Given the description of an element on the screen output the (x, y) to click on. 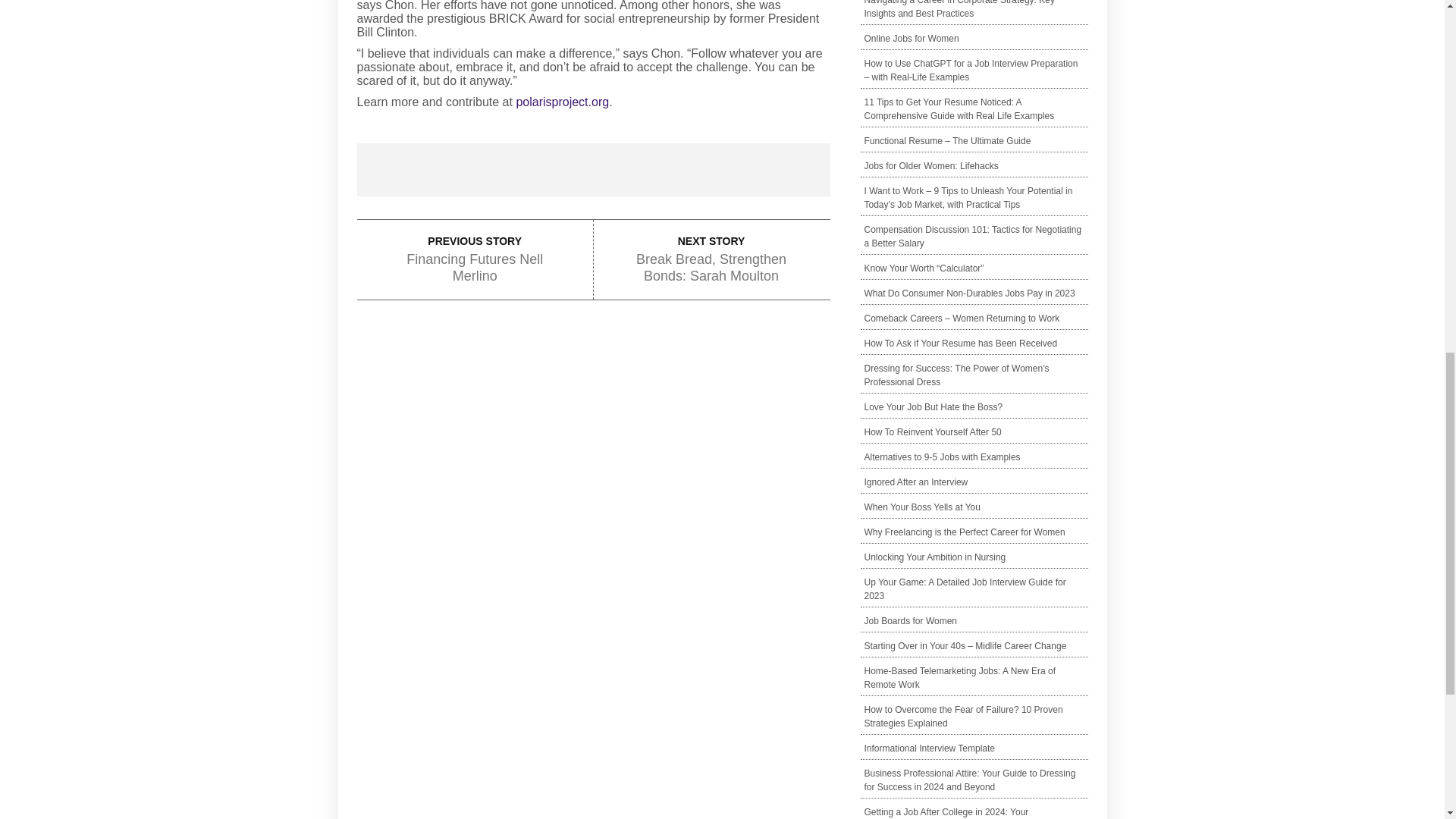
Pin This (651, 169)
Share on Facebook (415, 169)
Tweet This (533, 169)
Email This (770, 169)
